Given the description of an element on the screen output the (x, y) to click on. 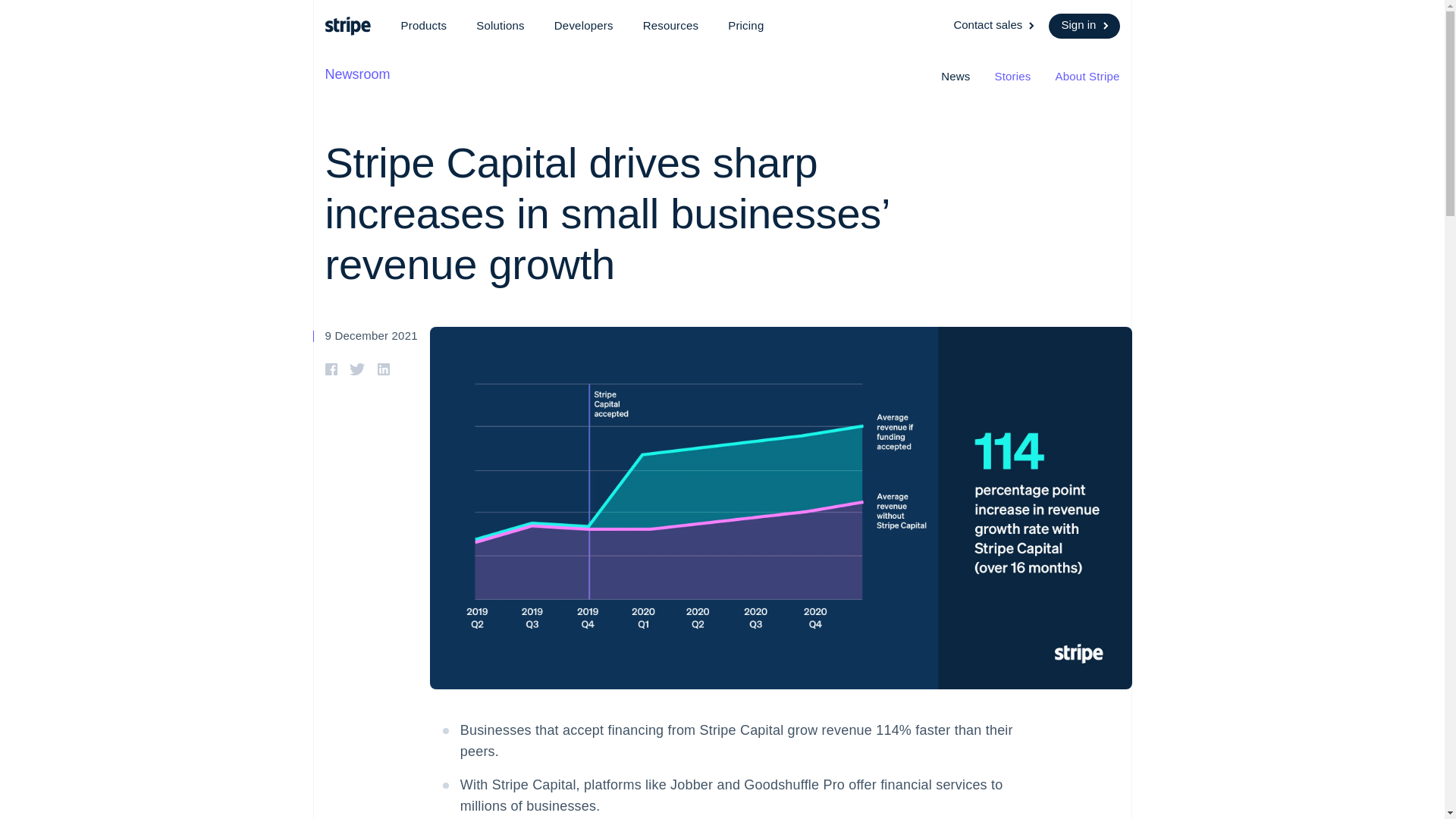
Resources (670, 25)
Sign in  (1083, 25)
Products (423, 25)
Contact sales  (994, 25)
Developers (583, 25)
Solutions (500, 25)
Pricing (745, 25)
